Given the description of an element on the screen output the (x, y) to click on. 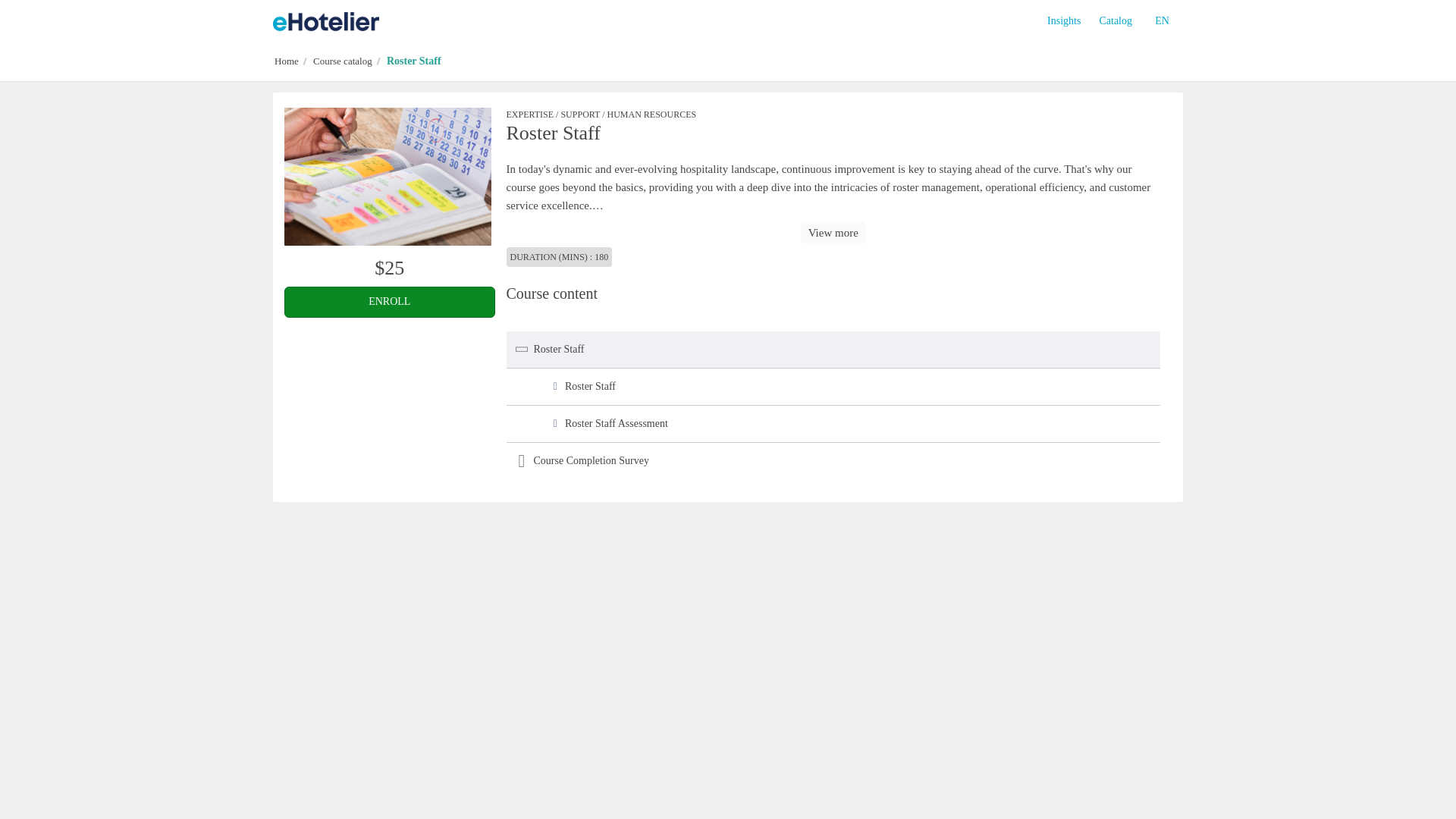
Insights (1063, 20)
Catalog (1115, 20)
Roster Staff (387, 176)
Skip to main content (10, 20)
eHotelier (325, 21)
Enroll (389, 301)
EN (1161, 21)
